Given the description of an element on the screen output the (x, y) to click on. 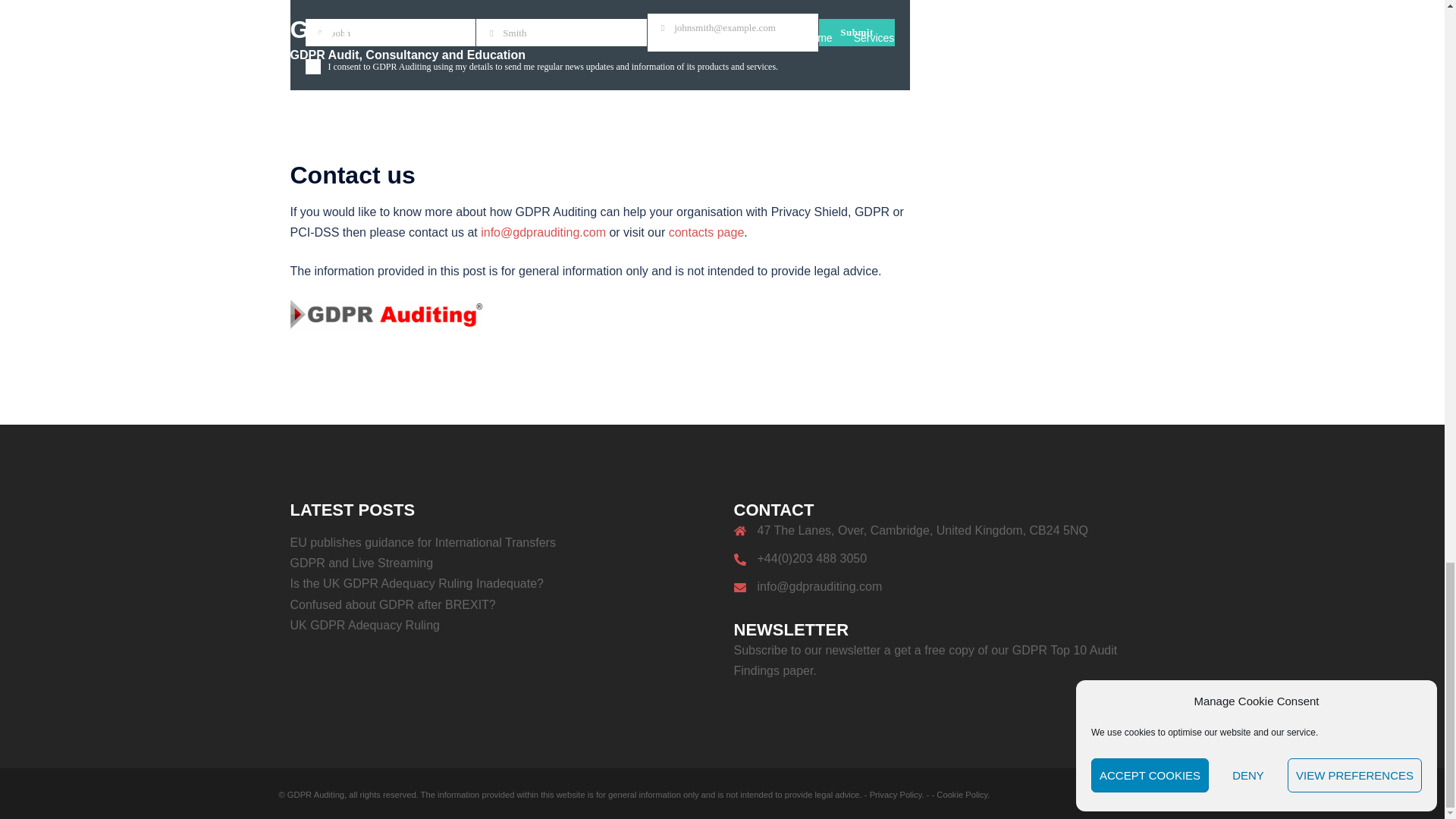
contacts page (706, 232)
Submit (856, 31)
